Given the description of an element on the screen output the (x, y) to click on. 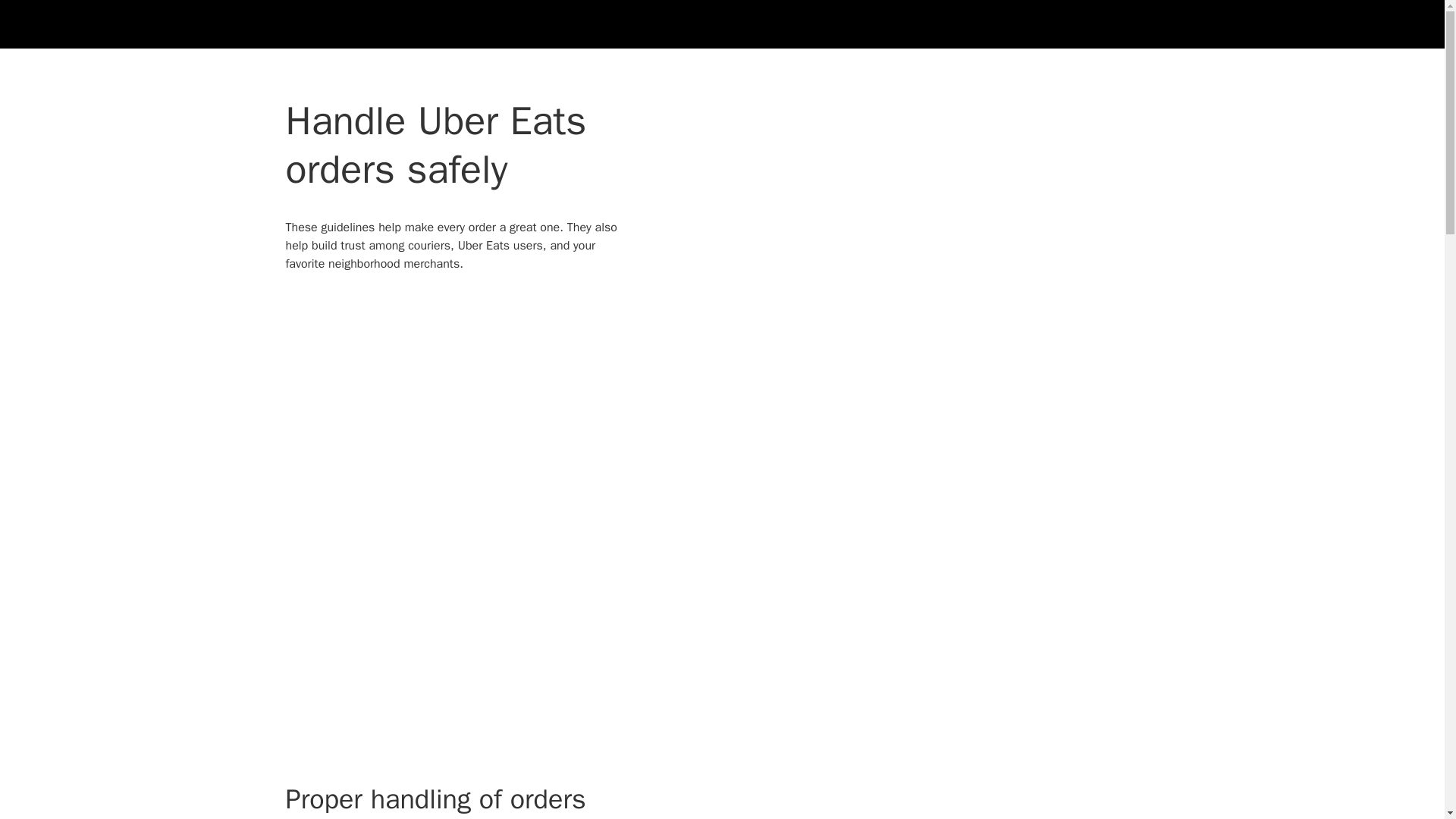
Uber (254, 24)
, (1204, 23)
Log in (1109, 23)
, (1203, 24)
Sign up (1161, 23)
